Given the description of an element on the screen output the (x, y) to click on. 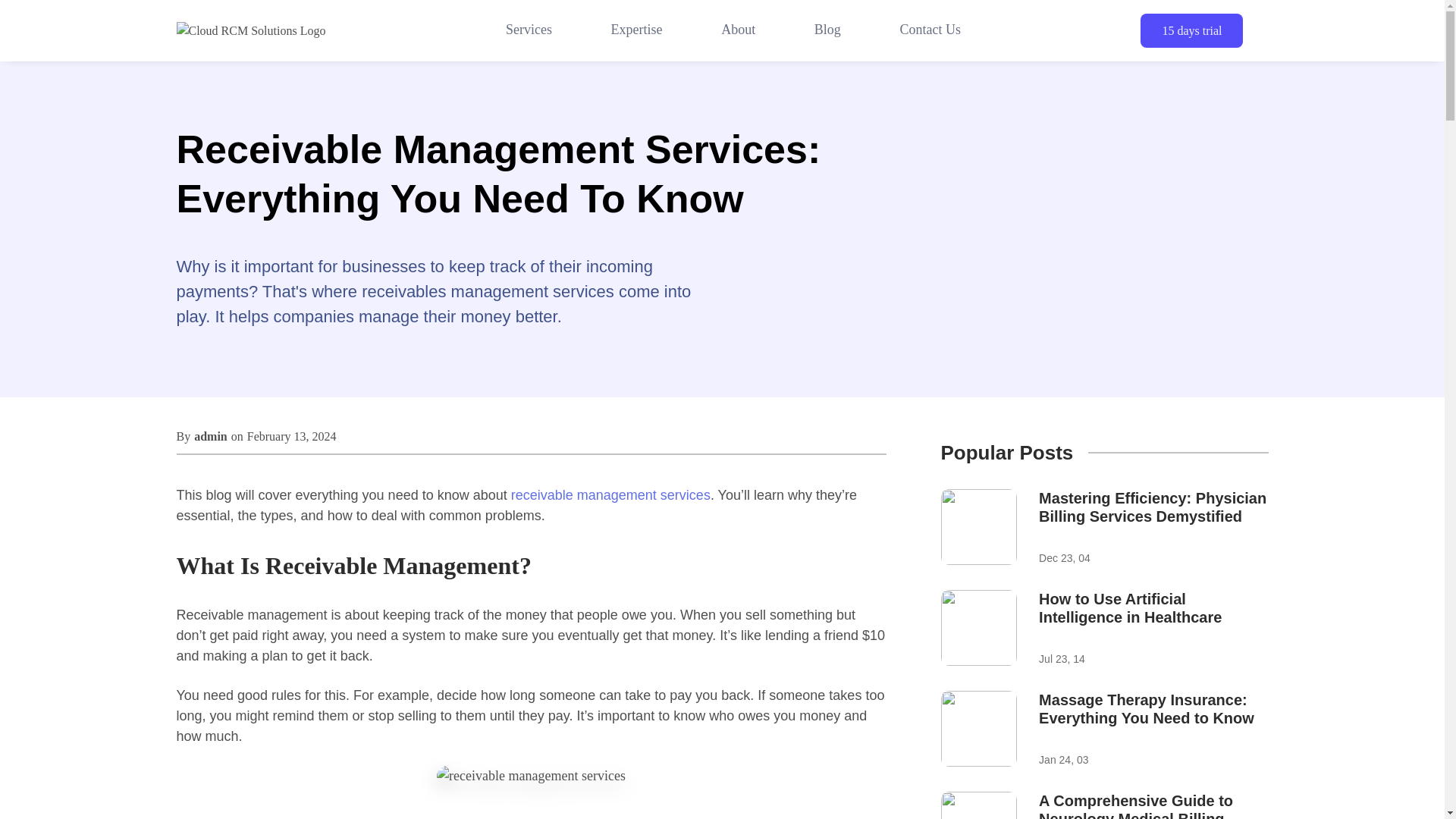
Contact Us (929, 30)
About (737, 30)
Expertise (636, 30)
Services (1104, 628)
15 days trial (529, 30)
receivable management services (1191, 30)
